Given the description of an element on the screen output the (x, y) to click on. 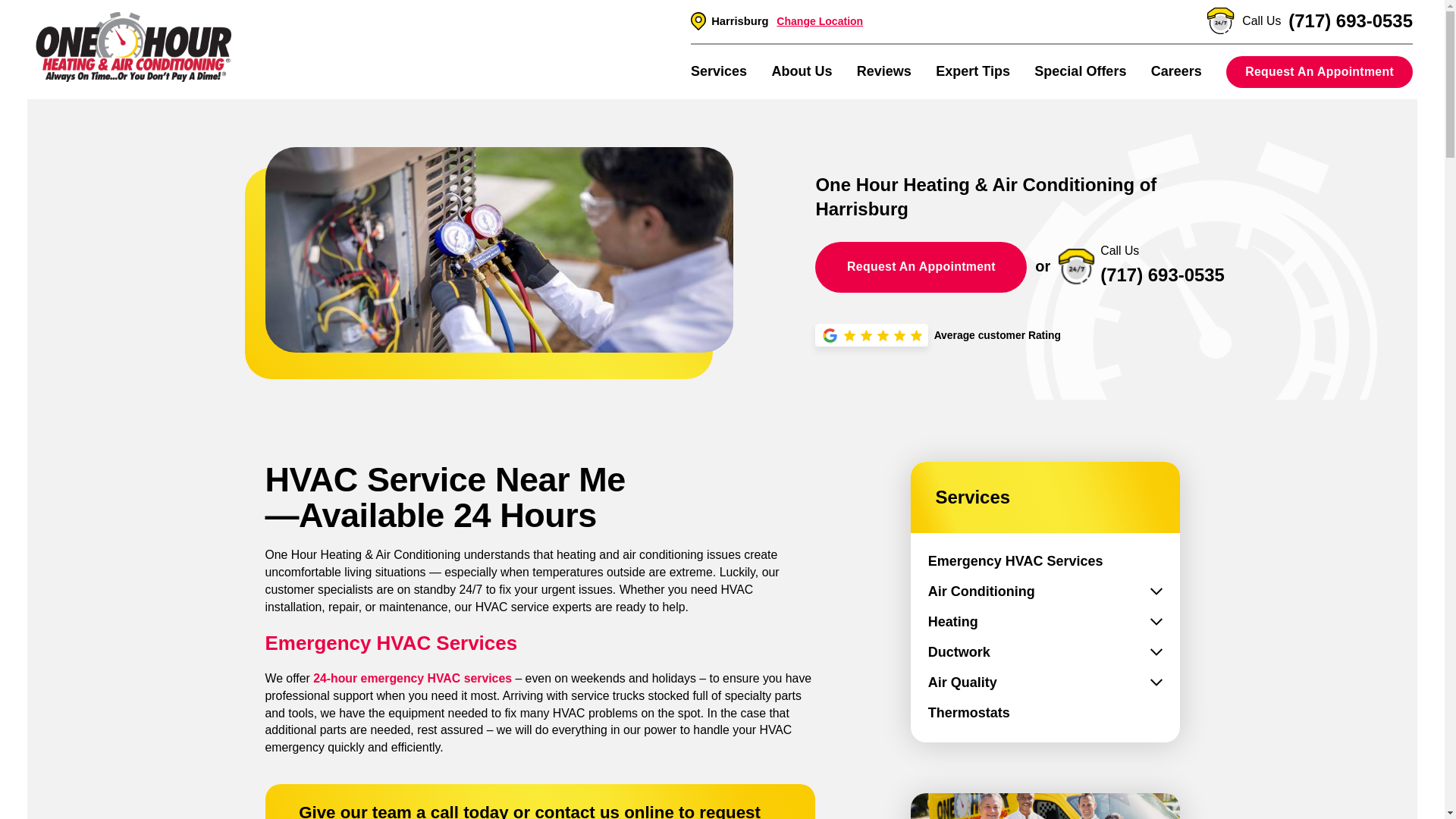
Services (718, 71)
Change Location (819, 21)
About Us (801, 71)
Reviews (884, 71)
